Given the description of an element on the screen output the (x, y) to click on. 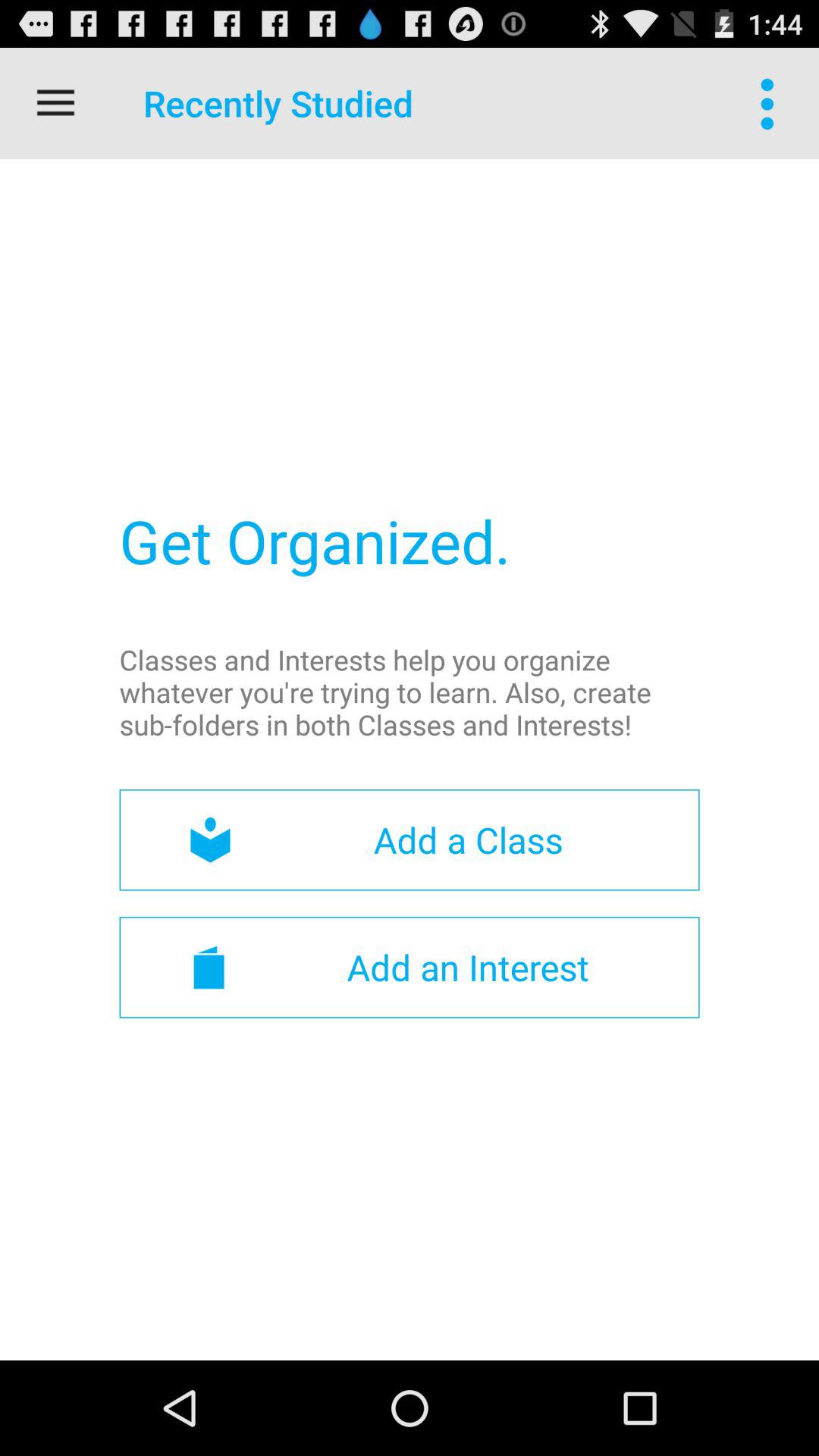
turn on icon above get organized. (55, 103)
